Given the description of an element on the screen output the (x, y) to click on. 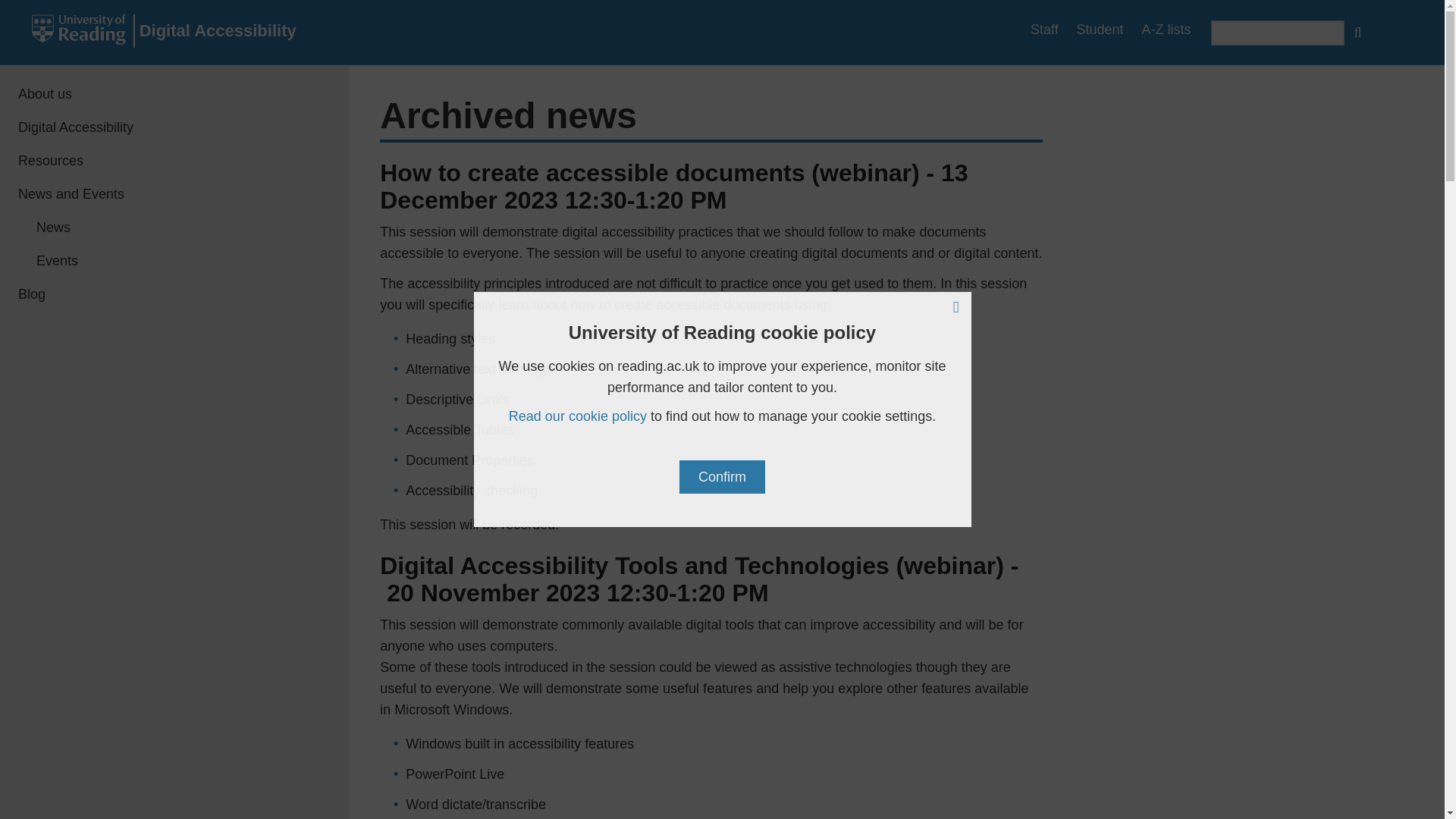
Read our cookie policy (577, 416)
Student (1099, 29)
About us (174, 93)
News and Events (174, 193)
About Us (174, 93)
Digital Accessibility Section (174, 127)
Digital Accessibility (216, 30)
Staff (1044, 29)
A-Z lists (1165, 29)
Digital Accessibility (174, 127)
